Given the description of an element on the screen output the (x, y) to click on. 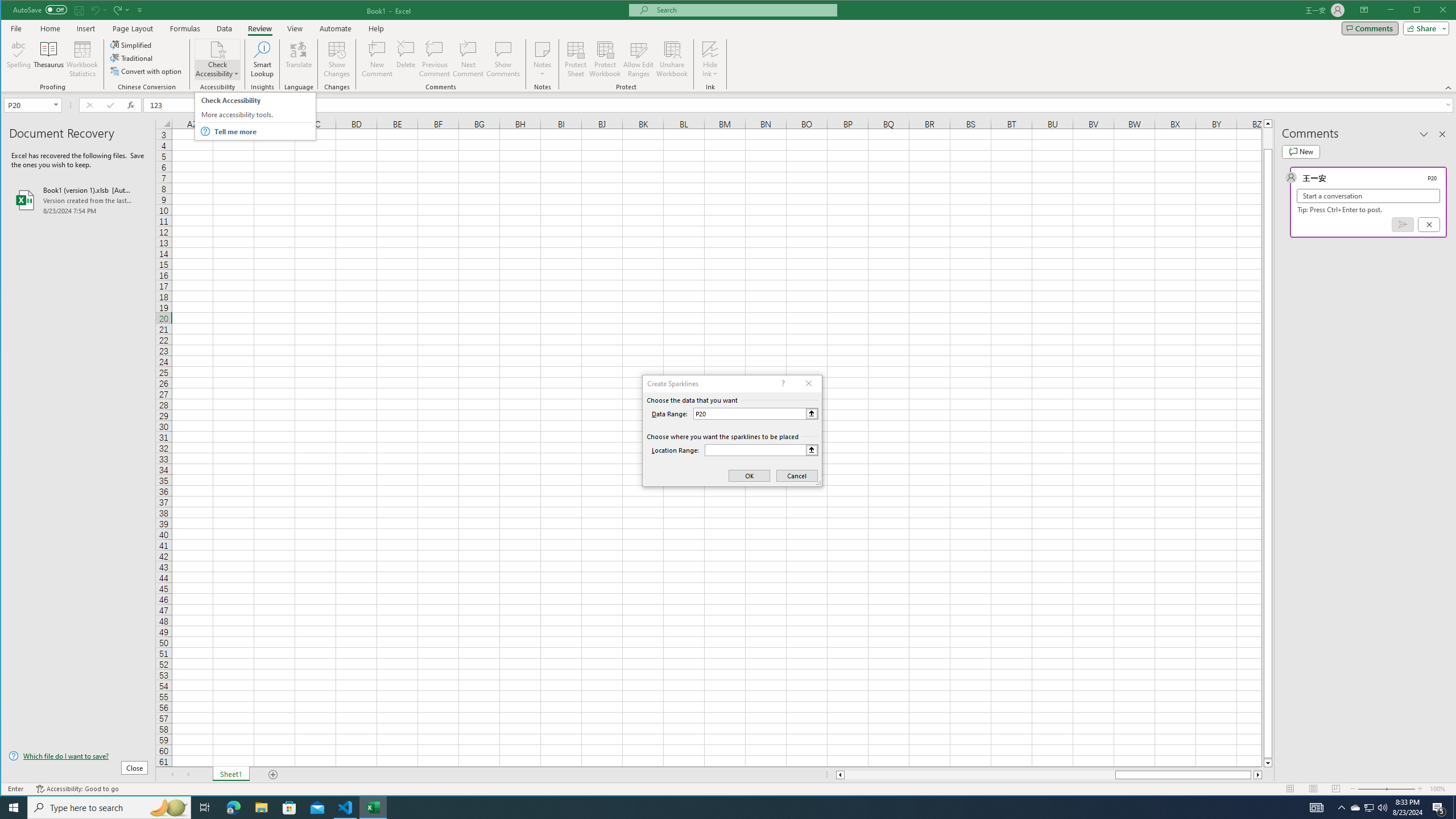
Convert with option (146, 70)
Protect Workbook... (604, 59)
Translate (298, 59)
Post comment (Ctrl + Enter) (1402, 224)
New comment (1300, 151)
